Given the description of an element on the screen output the (x, y) to click on. 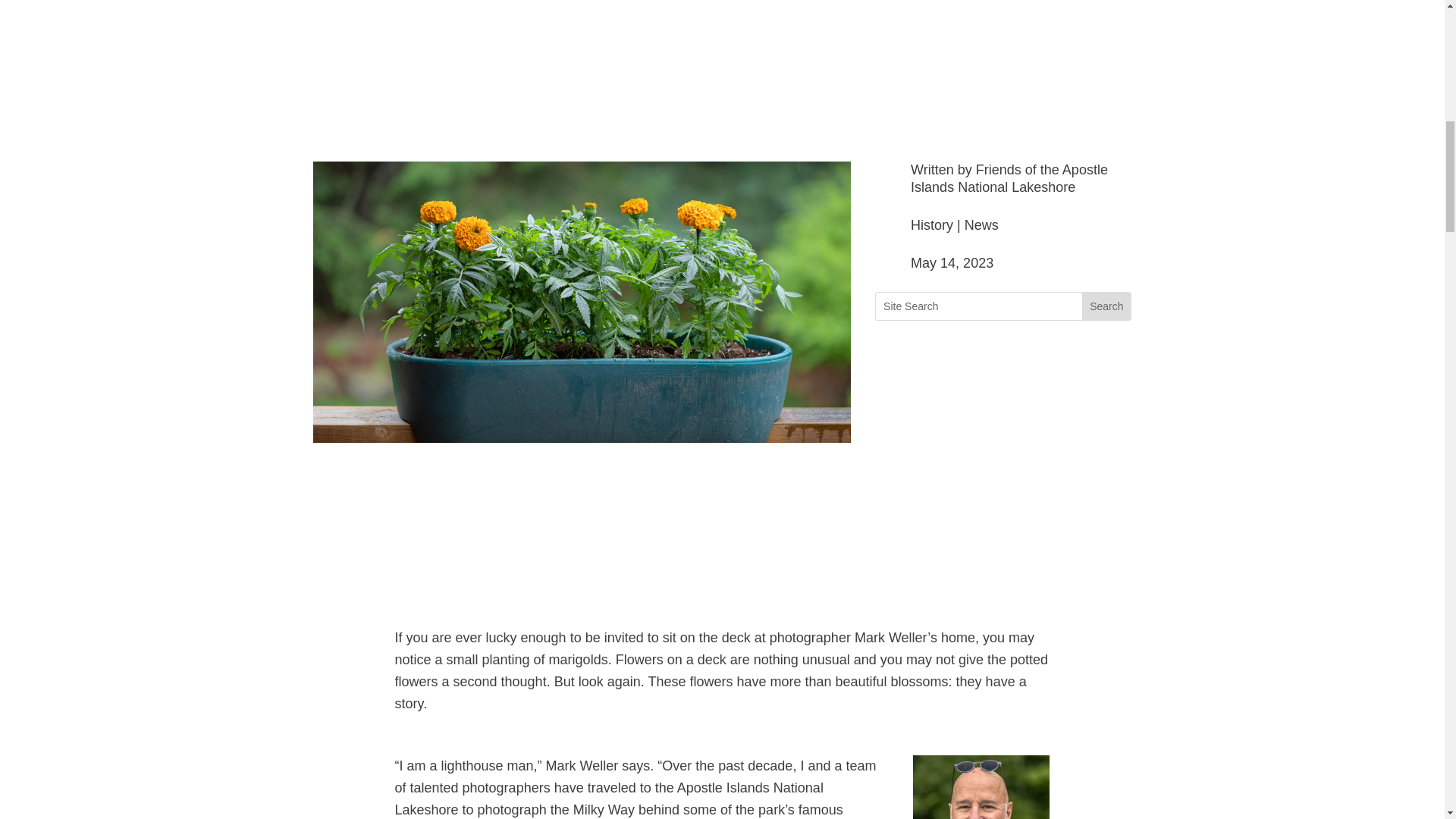
Friends-of-the-Apostle-Islands-Board-Member-Mark-Weller (980, 787)
Marigolds in bloom in a container (581, 437)
Friends of the Apostle Islands National Lakeshore (1009, 178)
Search (1106, 306)
Search (1106, 306)
History (932, 224)
News (980, 224)
Search (1106, 306)
